Given the description of an element on the screen output the (x, y) to click on. 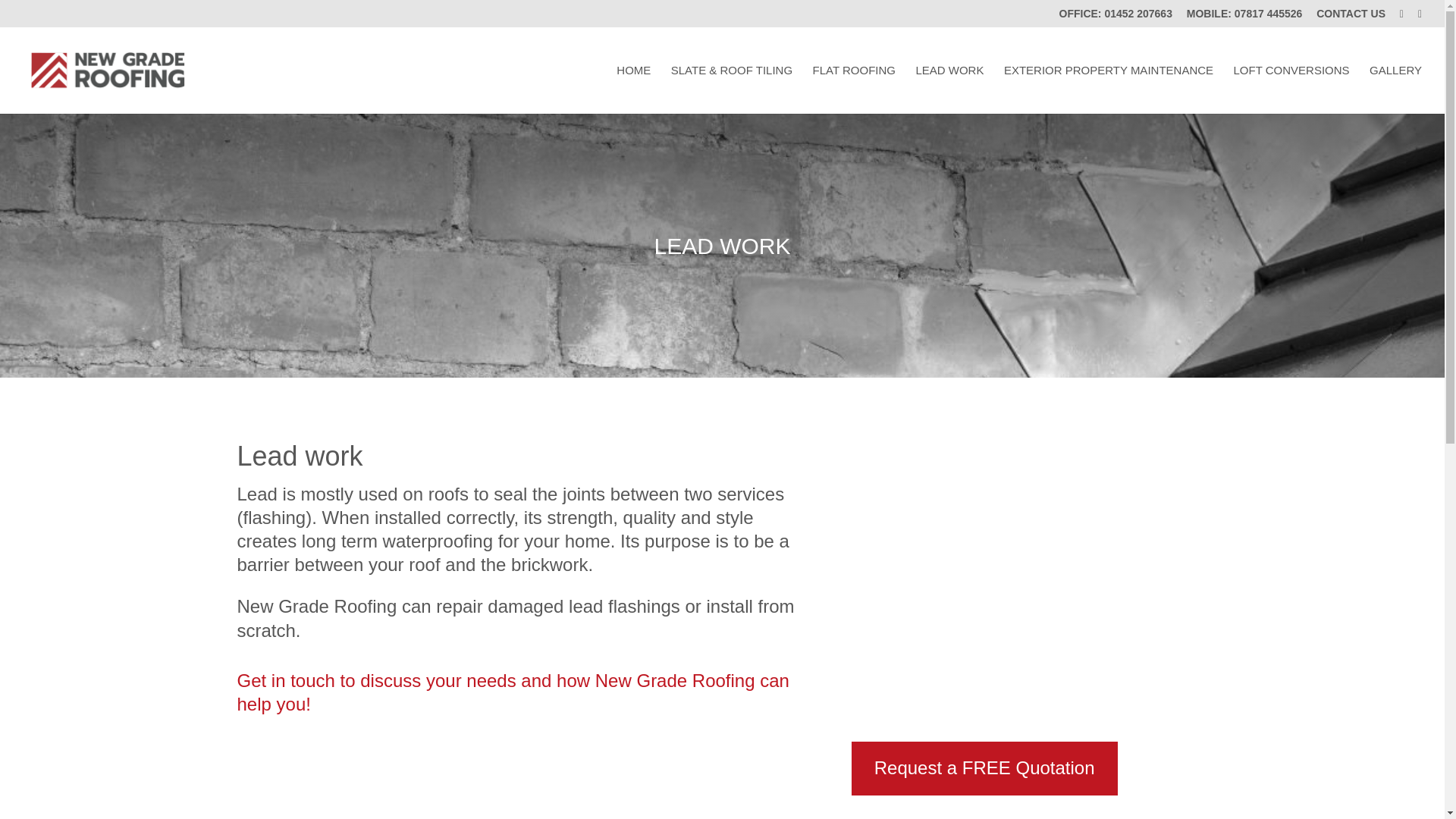
CONTACT US (1351, 16)
GALLERY (1396, 89)
OFFICE: 01452 207663 (1115, 16)
LEAD WORK (949, 89)
FLAT ROOFING (853, 89)
MOBILE: 07817 445526 (1244, 16)
LOFT CONVERSIONS (1291, 89)
HOME (632, 89)
EXTERIOR PROPERTY MAINTENANCE (1108, 89)
Request a FREE Quotation (984, 768)
